Given the description of an element on the screen output the (x, y) to click on. 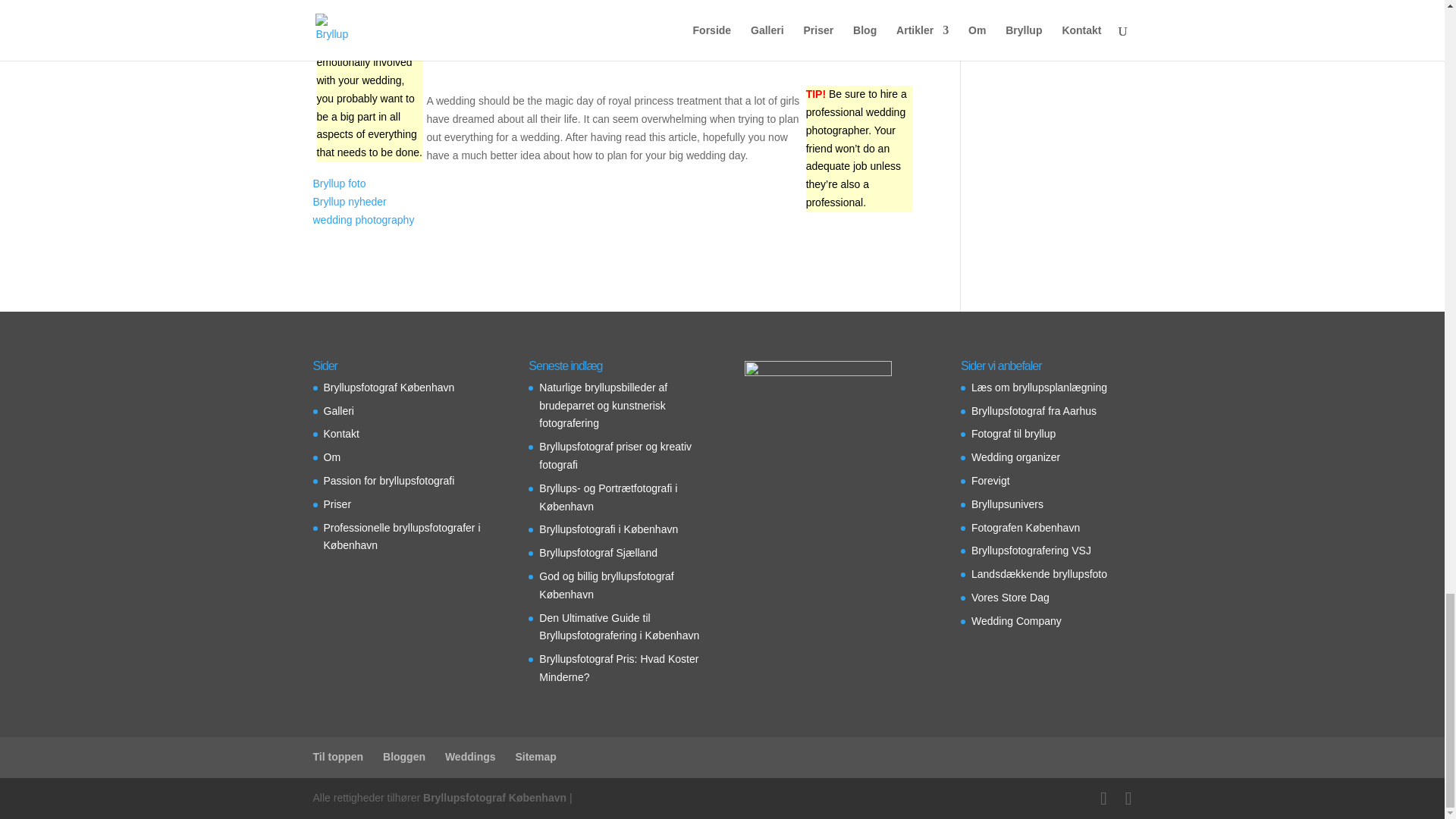
Bryllup foto (339, 183)
Bryllup nyheder (349, 201)
wedding photography (363, 219)
